Given the description of an element on the screen output the (x, y) to click on. 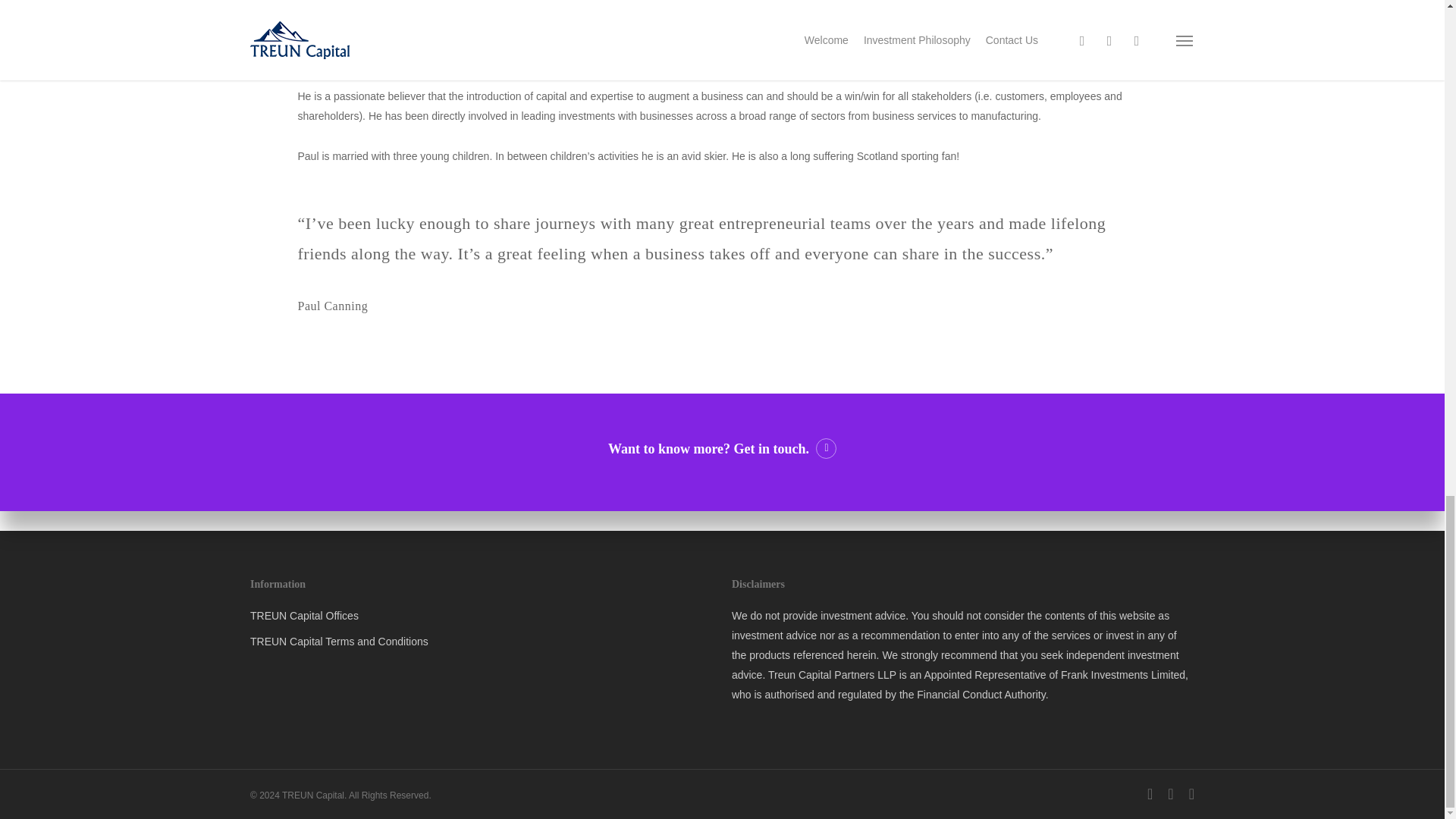
Get in touch. (785, 448)
